Given the description of an element on the screen output the (x, y) to click on. 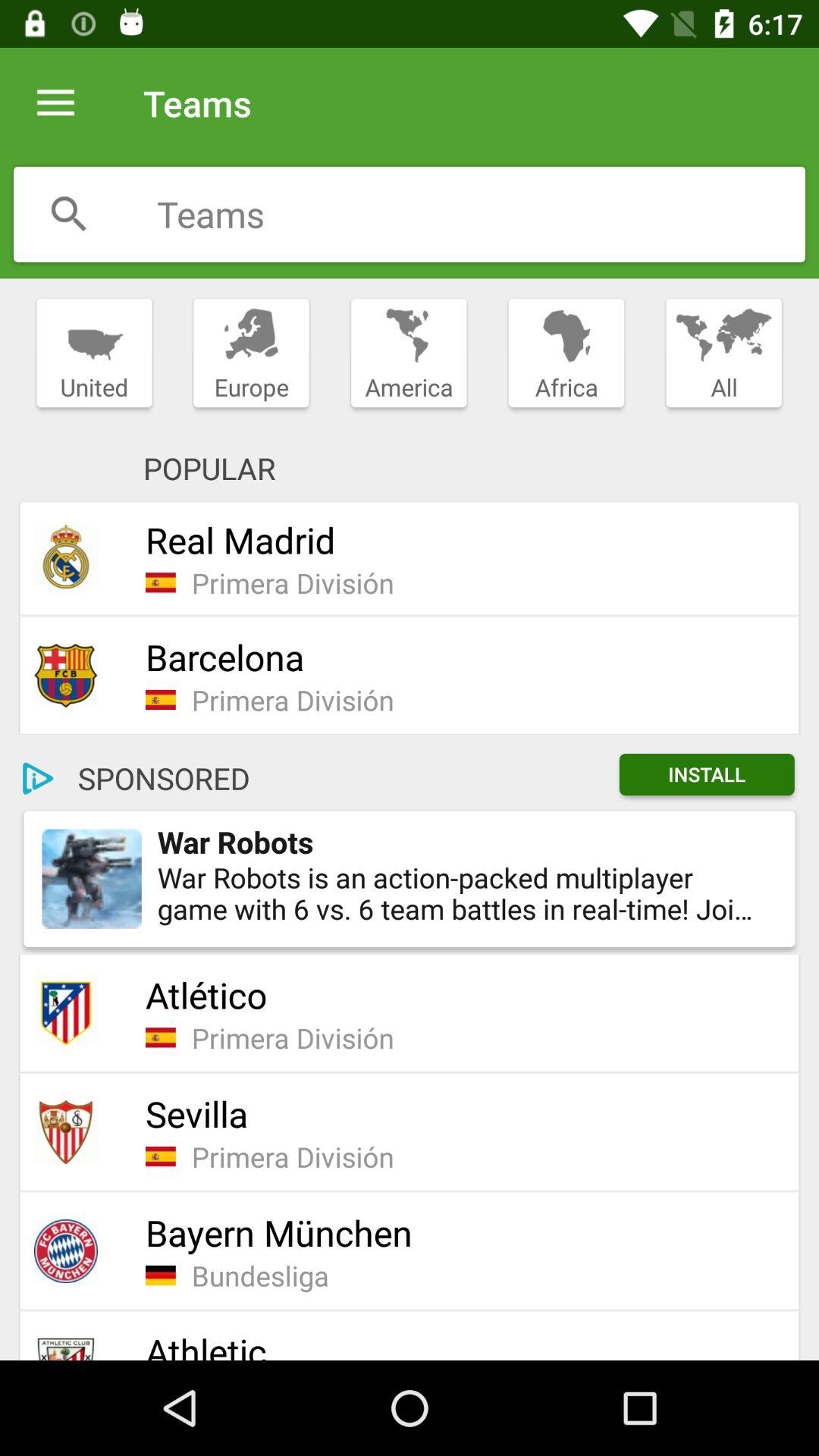
select europe item (250, 353)
